Given the description of an element on the screen output the (x, y) to click on. 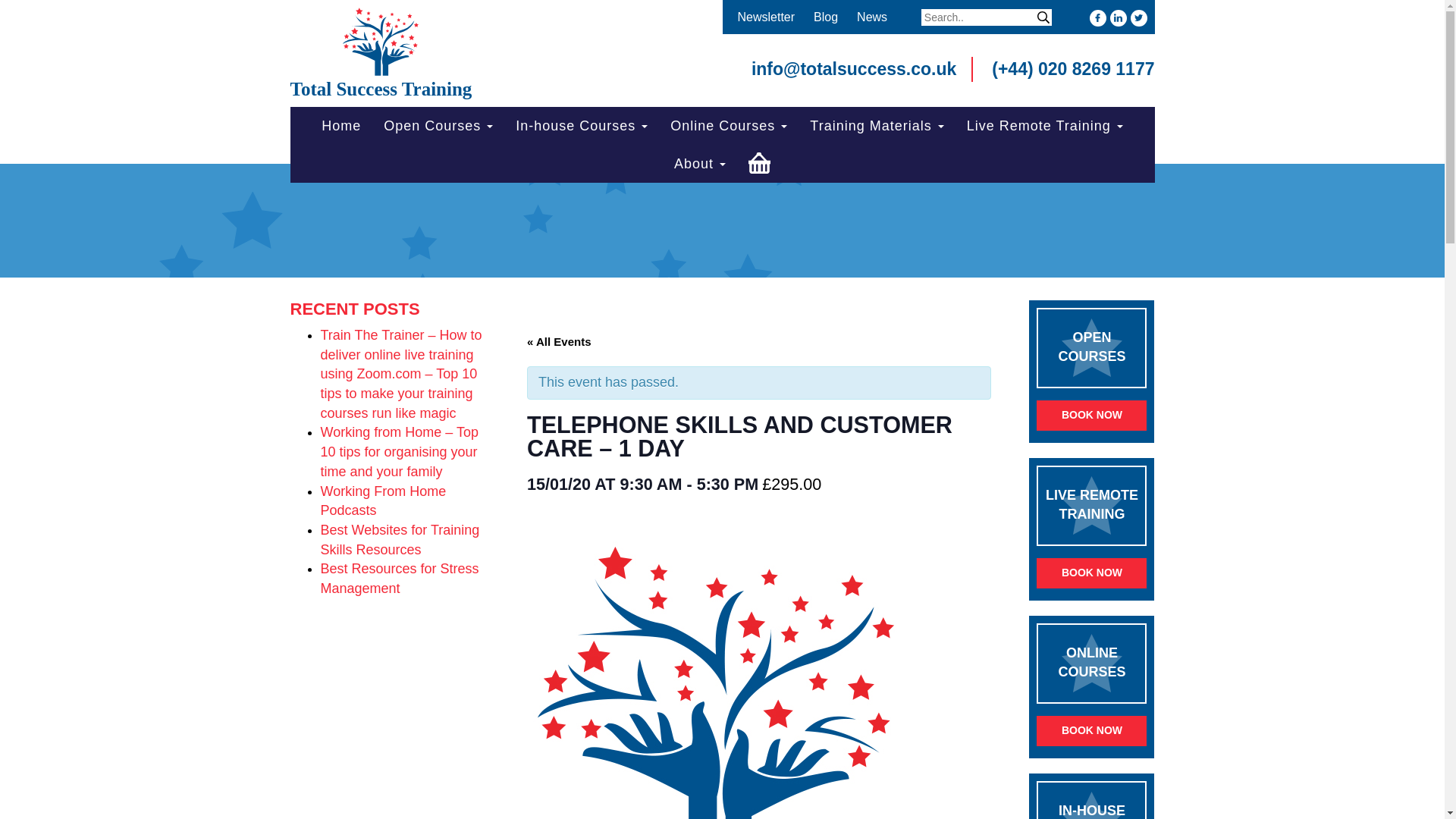
Training Materials (876, 125)
Total Success Training (380, 55)
Online Courses (728, 125)
In-house Courses (581, 125)
Total Success Training (380, 55)
Blog (825, 16)
Search (1043, 17)
Newsletter (765, 16)
Home (341, 125)
Open Courses (437, 125)
News (871, 16)
Shop (758, 160)
